Given the description of an element on the screen output the (x, y) to click on. 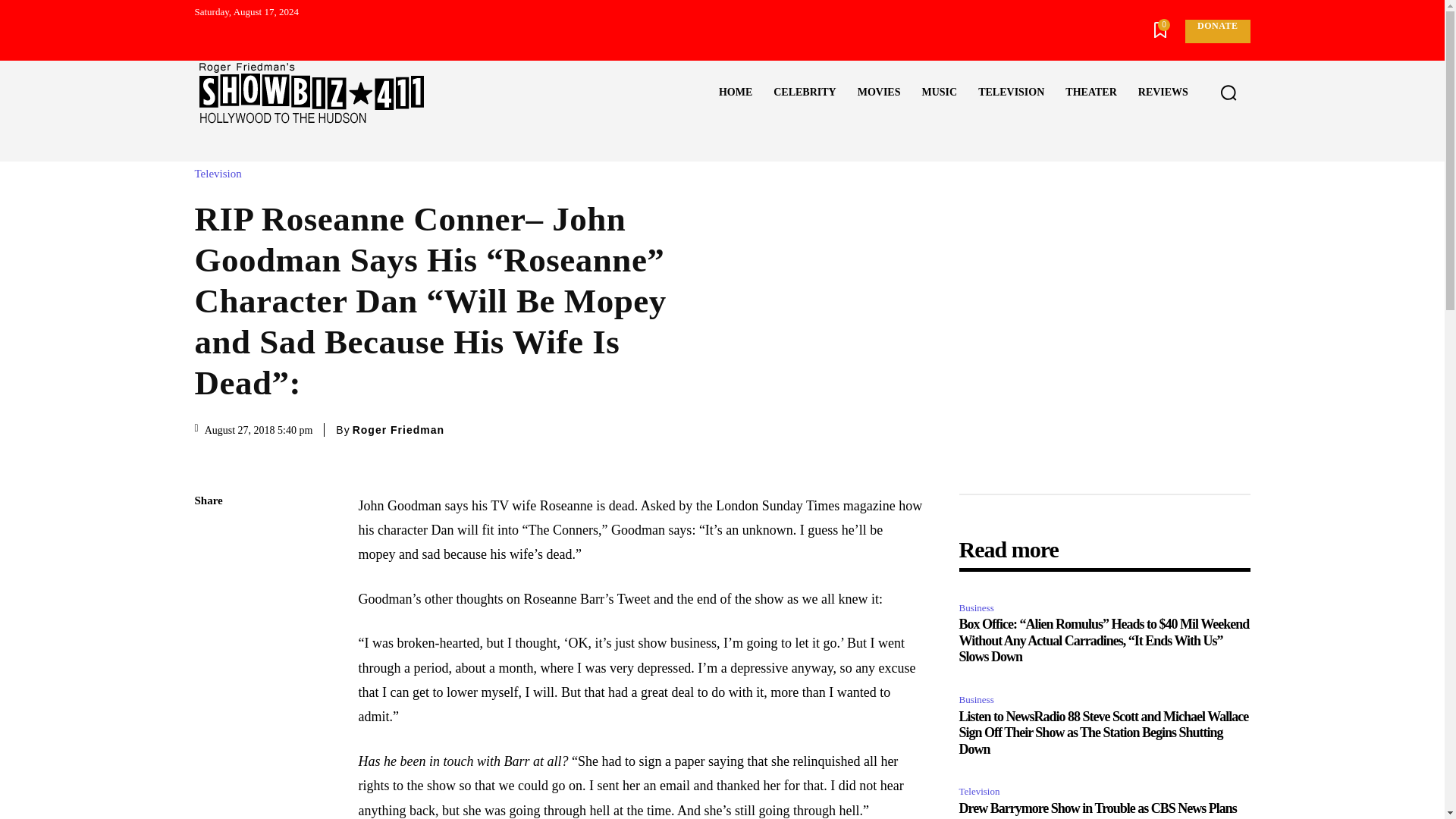
MUSIC (939, 92)
REVIEWS (1162, 92)
DONATE (1217, 31)
Donate (1217, 31)
CELEBRITY (803, 92)
Television (220, 173)
TELEVISION (1011, 92)
THEATER (1090, 92)
MOVIES (879, 92)
HOME (734, 92)
